Given the description of an element on the screen output the (x, y) to click on. 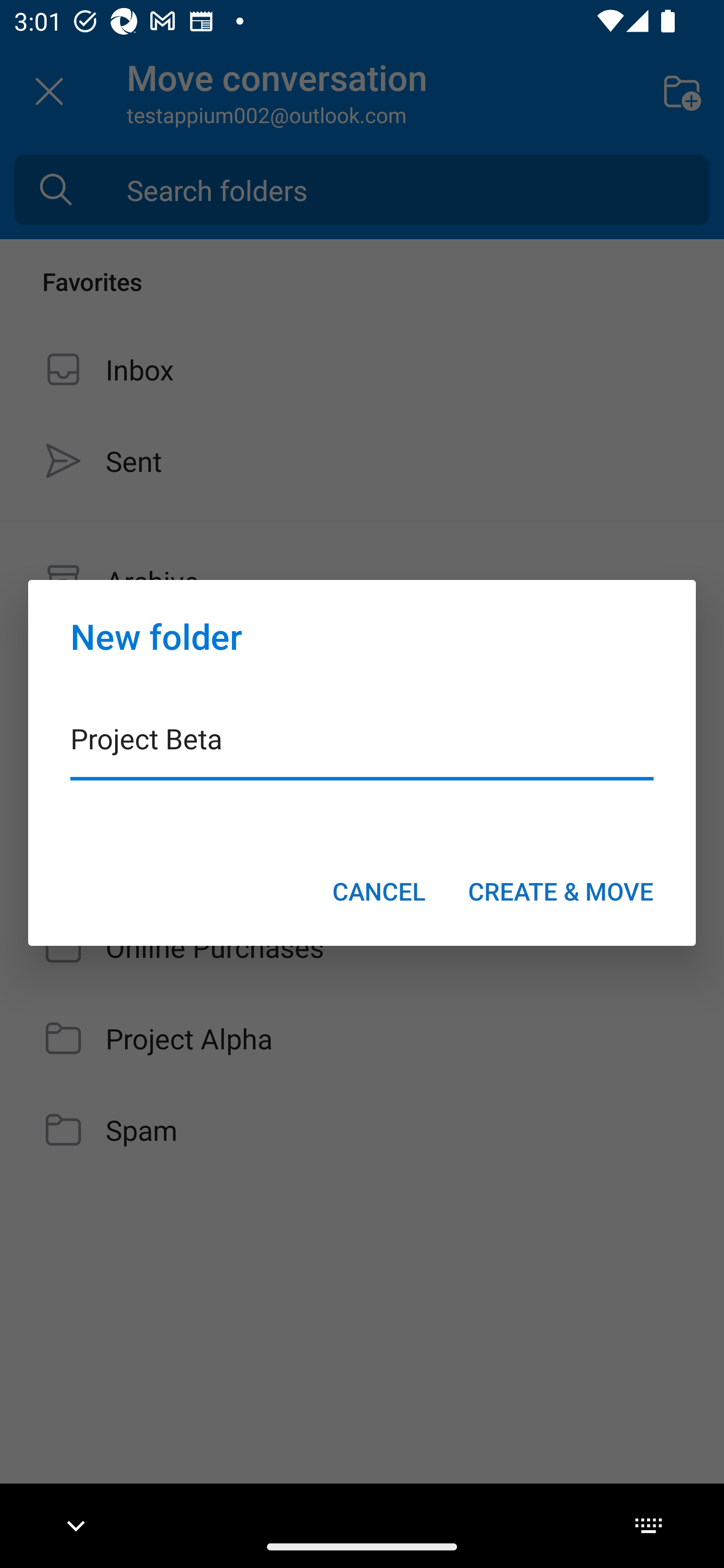
Project Beta (361, 750)
CANCEL (378, 891)
CREATE & MOVE (560, 891)
